Given the description of an element on the screen output the (x, y) to click on. 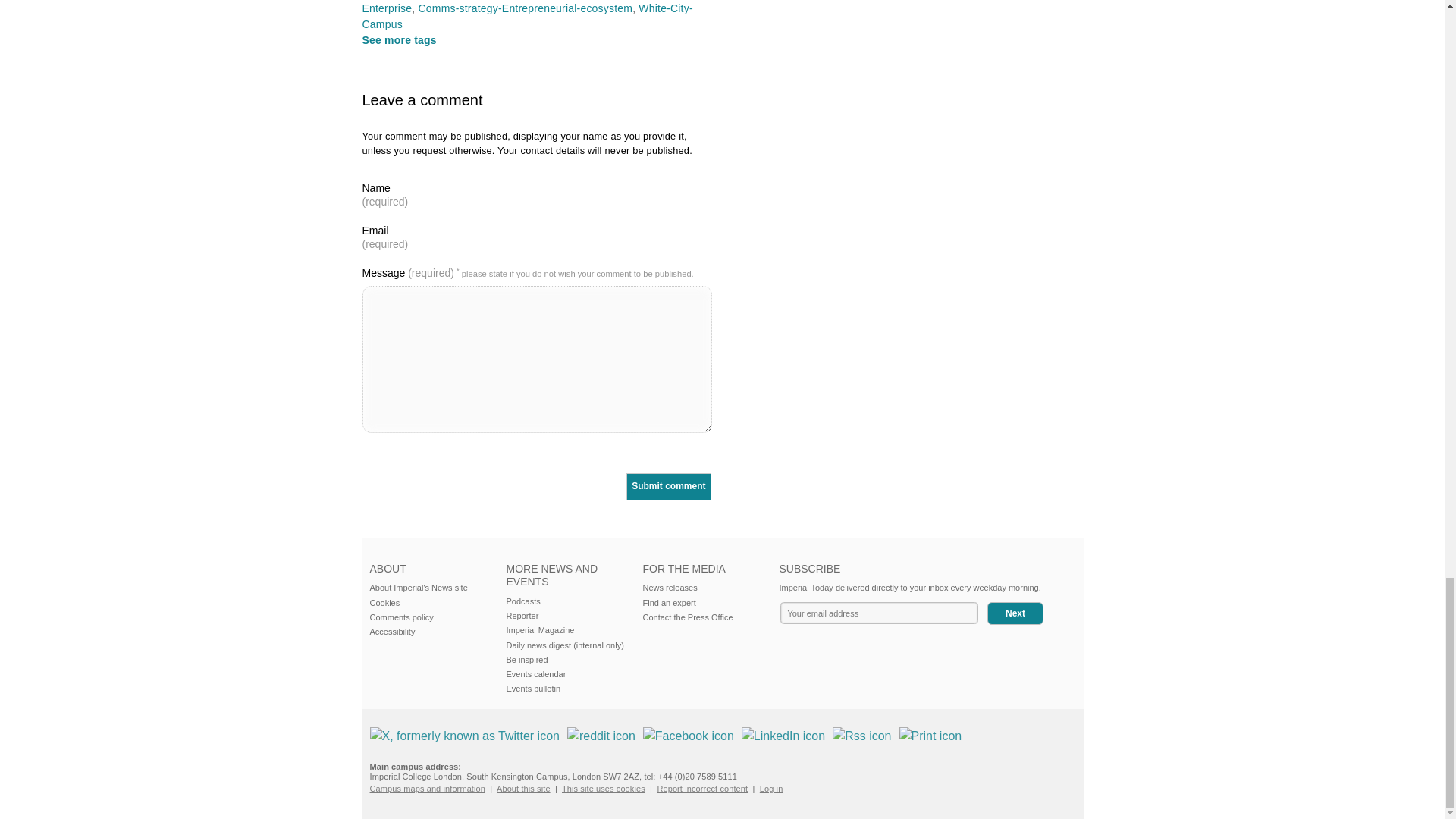
Post this (464, 736)
Submit comment (668, 486)
Share this on Facebook (688, 736)
Share this on reddit (600, 736)
Submit comment (668, 486)
See more tags (399, 39)
Comms-strategy-Entrepreneurial-ecosystem (526, 8)
White-City-Campus (527, 16)
Enterprise (387, 8)
